Given the description of an element on the screen output the (x, y) to click on. 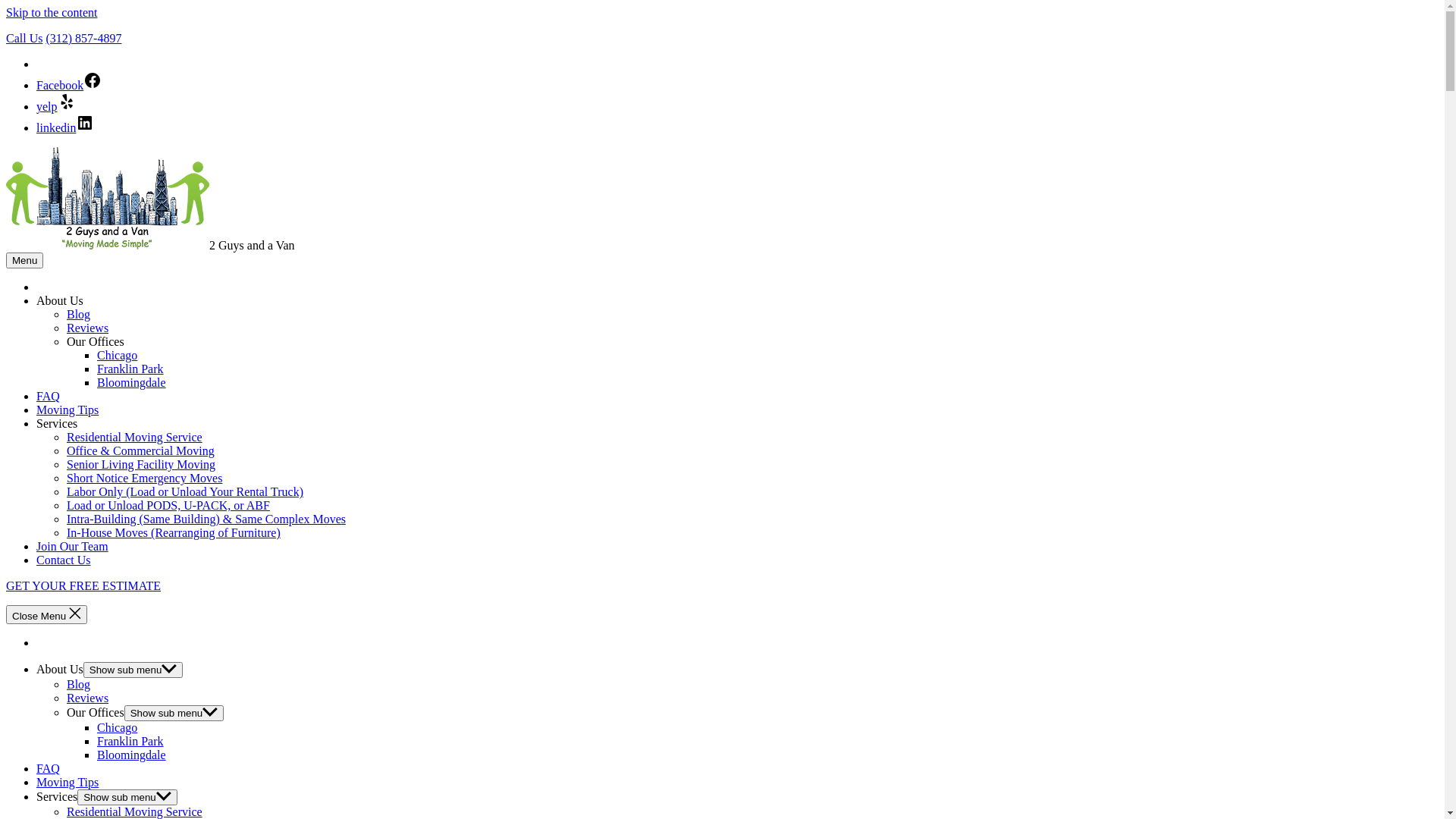
Blog Element type: text (78, 683)
Moving Tips Element type: text (67, 781)
Show sub menu Element type: text (174, 713)
Services Element type: text (56, 796)
Senior Living Facility Moving Element type: text (140, 464)
FAQ Element type: text (47, 395)
GET YOUR FREE ESTIMATE Element type: text (83, 585)
Contact Us Element type: text (63, 559)
Moving Tips Element type: text (67, 409)
Office & Commercial Moving Element type: text (140, 450)
Our Offices Element type: text (95, 712)
Blog Element type: text (78, 313)
Reviews Element type: text (87, 697)
Our Offices Element type: text (95, 341)
Residential Moving Service Element type: text (134, 436)
yelp Element type: text (55, 106)
Bloomingdale Element type: text (131, 382)
Show sub menu Element type: text (133, 669)
Chicago Element type: text (117, 727)
In-House Moves (Rearranging of Furniture) Element type: text (173, 532)
Intra-Building (Same Building) & Same Complex Moves Element type: text (205, 518)
Show sub menu Element type: text (127, 797)
Close Menu Element type: text (46, 614)
Load or Unload PODS, U-PACK, or ABF Element type: text (167, 504)
Skip to the content Element type: text (51, 12)
Short Notice Emergency Moves Element type: text (144, 477)
Services Element type: text (56, 423)
About Us Element type: text (59, 300)
linkedin Element type: text (65, 127)
Call Us Element type: text (24, 37)
Bloomingdale Element type: text (131, 754)
Franklin Park Element type: text (130, 368)
Franklin Park Element type: text (130, 740)
FAQ Element type: text (47, 768)
Facebook Element type: text (68, 84)
Labor Only (Load or Unload Your Rental Truck) Element type: text (184, 491)
Join Our Team Element type: text (72, 545)
(312) 857-4897 Element type: text (83, 37)
About Us Element type: text (59, 668)
Menu Element type: text (24, 260)
Reviews Element type: text (87, 327)
Residential Moving Service Element type: text (134, 811)
Chicago Element type: text (117, 354)
